Given the description of an element on the screen output the (x, y) to click on. 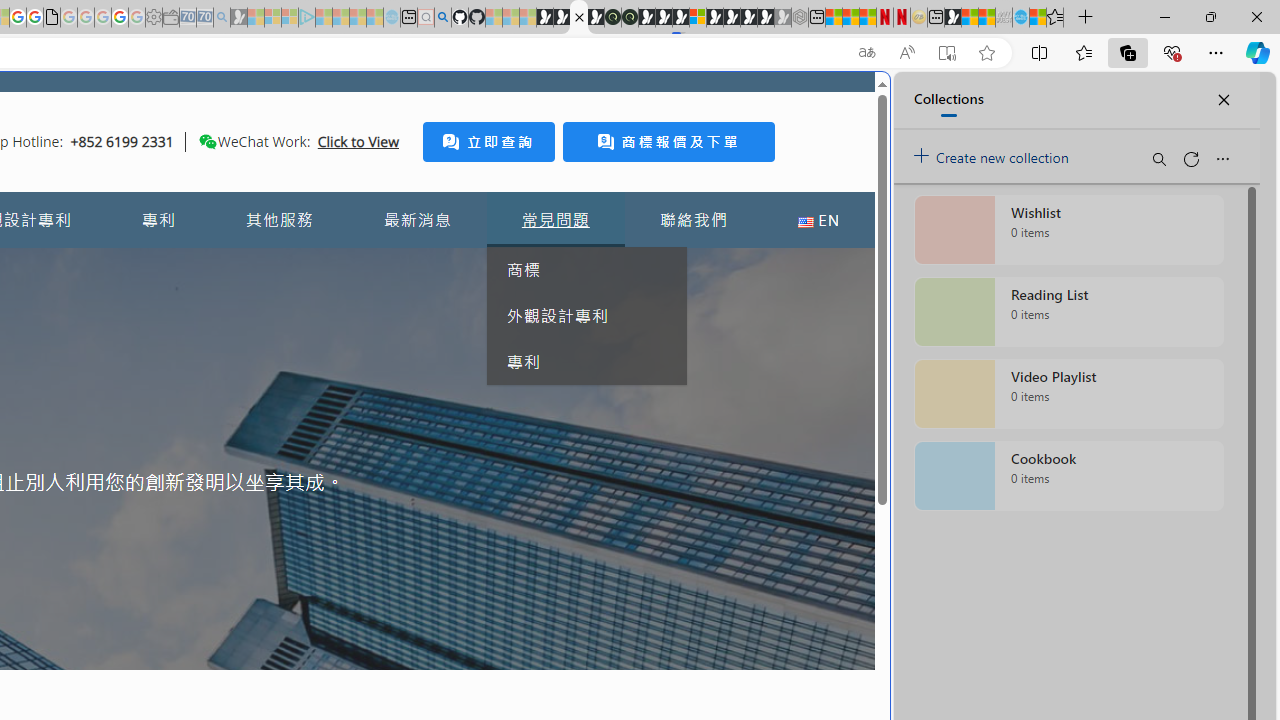
Earth has six continents not seven, radical new study claims (986, 17)
Close split screen (844, 102)
Show translate options (867, 53)
Search or enter web address (343, 191)
EN (818, 220)
